Given the description of an element on the screen output the (x, y) to click on. 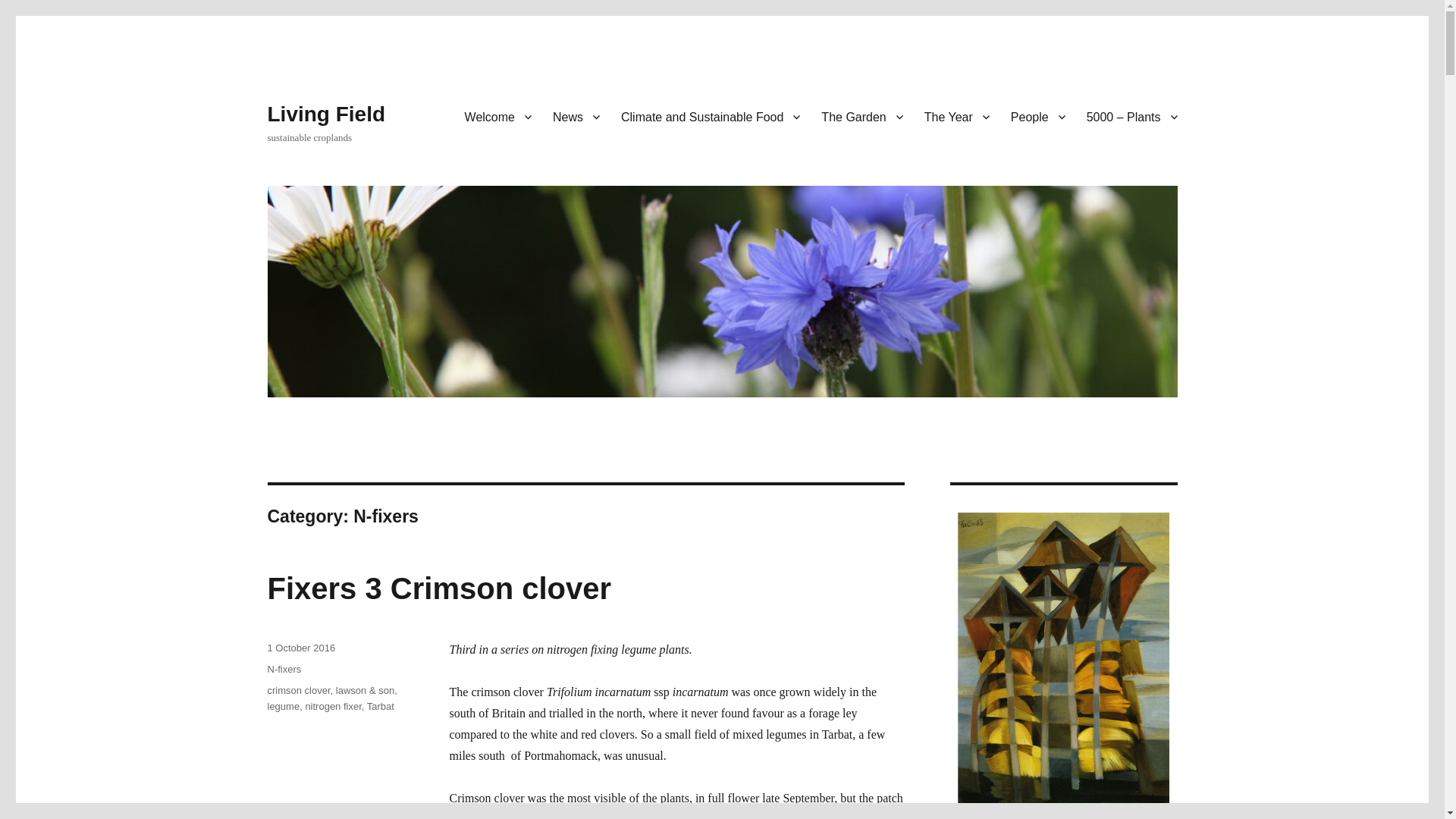
News (575, 116)
The Year (957, 116)
Welcome (497, 116)
Climate and Sustainable Food (710, 116)
Living Field (325, 114)
The Garden (861, 116)
